Given the description of an element on the screen output the (x, y) to click on. 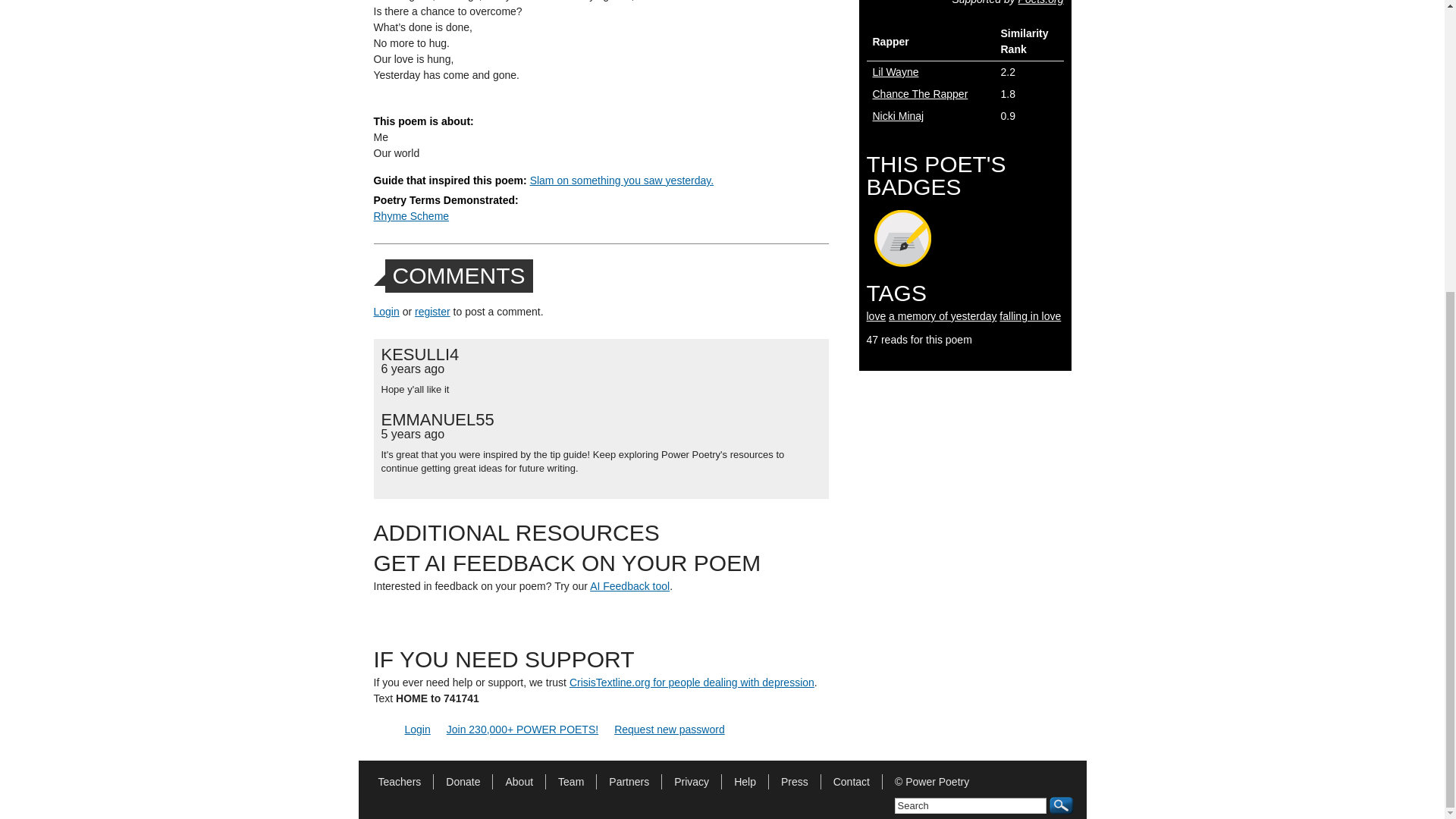
Search (970, 805)
